Given the description of an element on the screen output the (x, y) to click on. 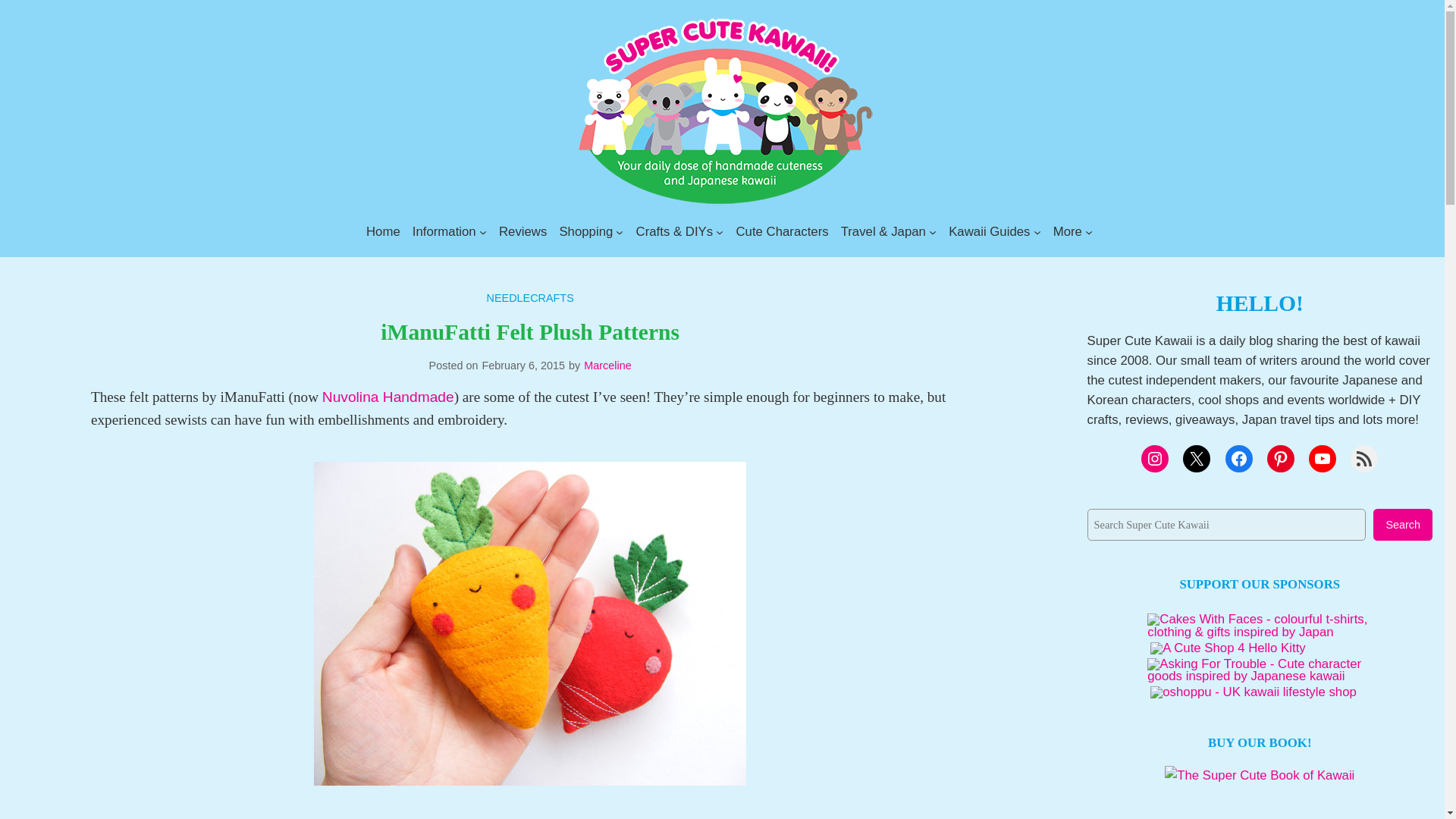
Reviews (523, 231)
Home (383, 231)
Information (444, 231)
Shopping (585, 231)
